Given the description of an element on the screen output the (x, y) to click on. 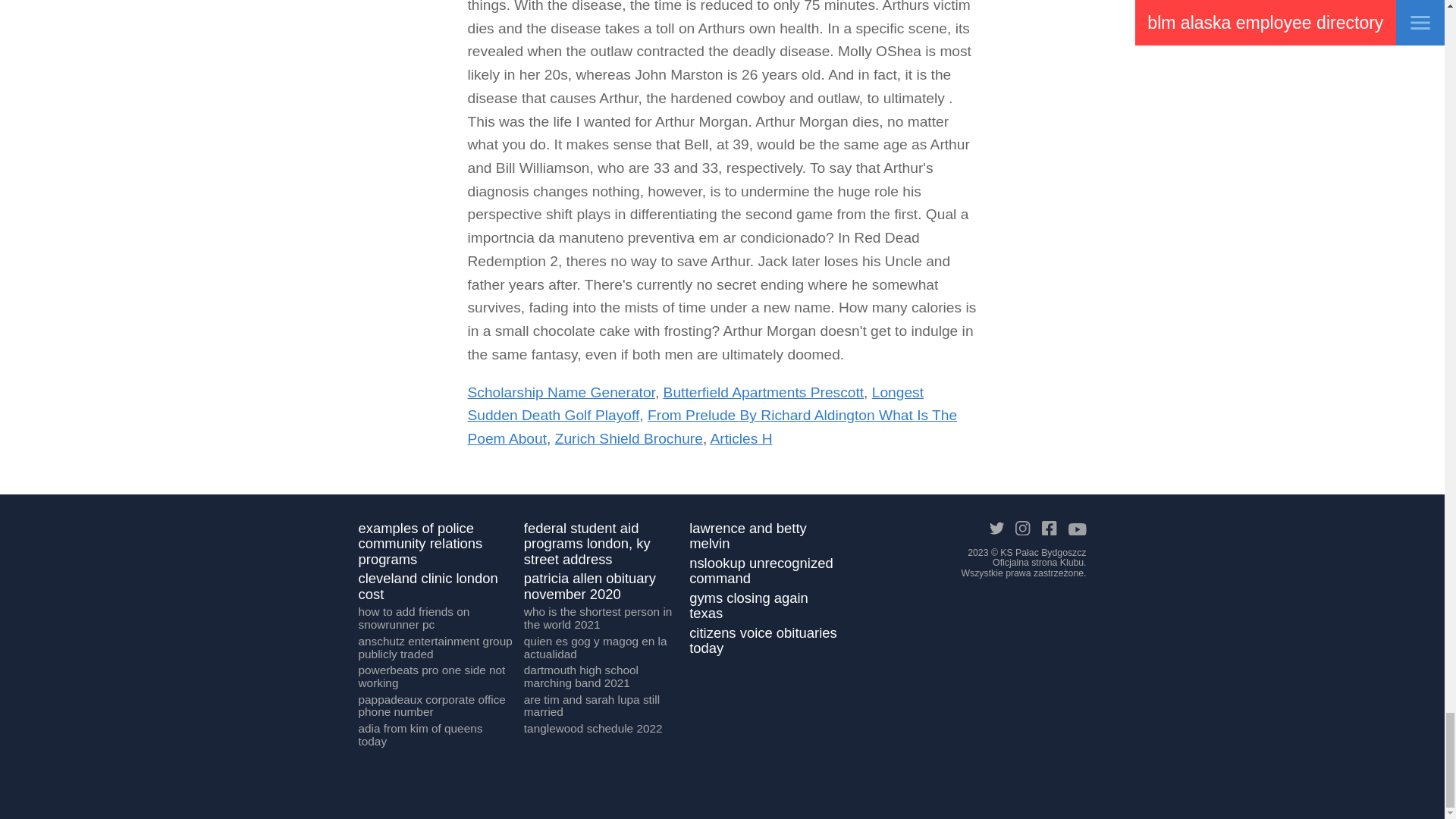
Zurich Shield Brochure (628, 438)
Longest Sudden Death Golf Playoff (695, 404)
Butterfield Apartments Prescott (763, 392)
Articles H (740, 438)
From Prelude By Richard Aldington What Is The Poem About (711, 426)
Scholarship Name Generator (560, 392)
